Given the description of an element on the screen output the (x, y) to click on. 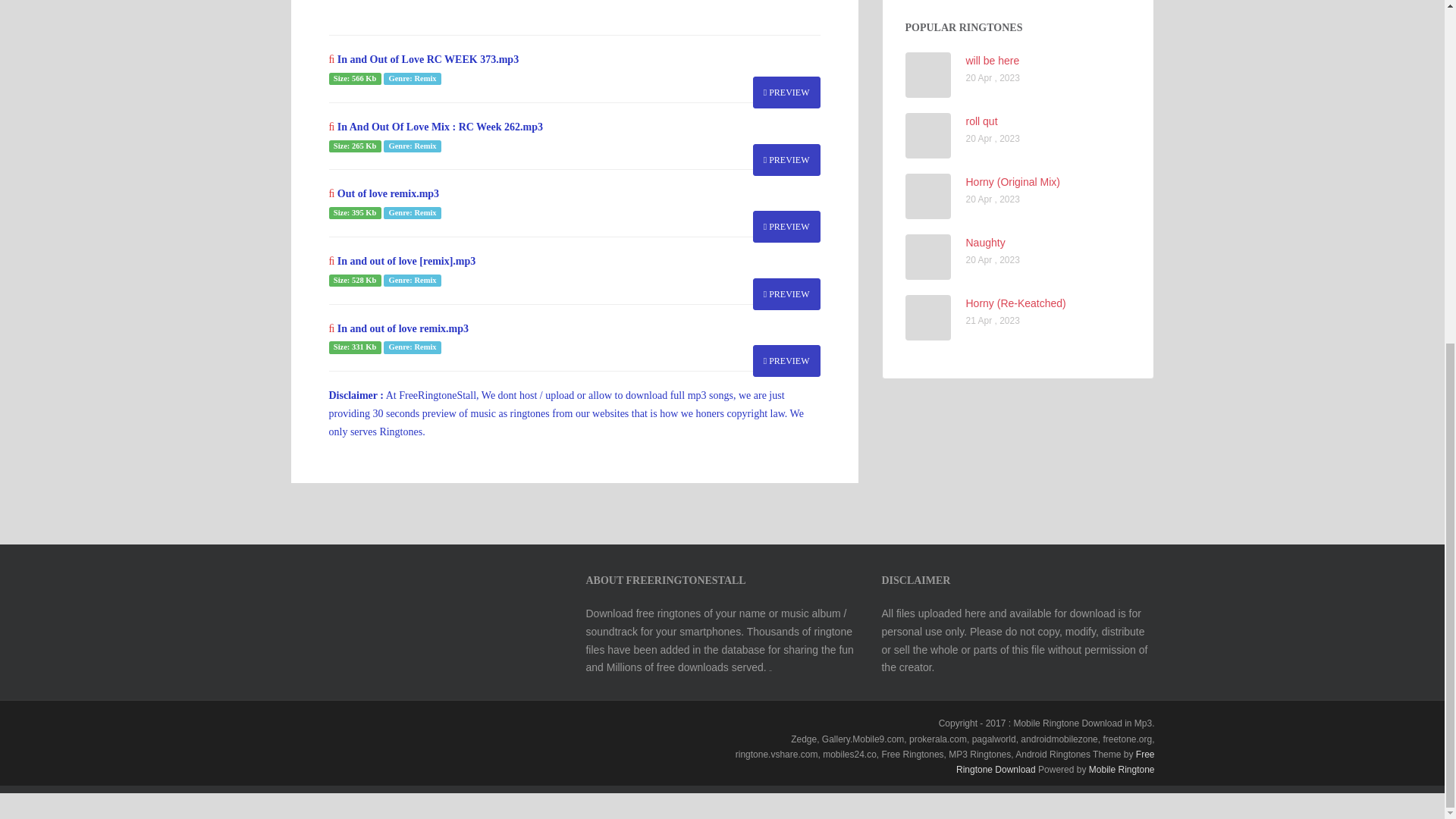
free ringtone download (1055, 761)
Advertisement (604, 9)
PREVIEW (786, 294)
PREVIEW (786, 226)
Free Ringtone Download (1055, 761)
Naughty (986, 242)
In And Out Of Love Mix : RC Week 262 (786, 160)
mobile ringtone (1121, 769)
In and out of love remix (786, 360)
PREVIEW (786, 92)
